Given the description of an element on the screen output the (x, y) to click on. 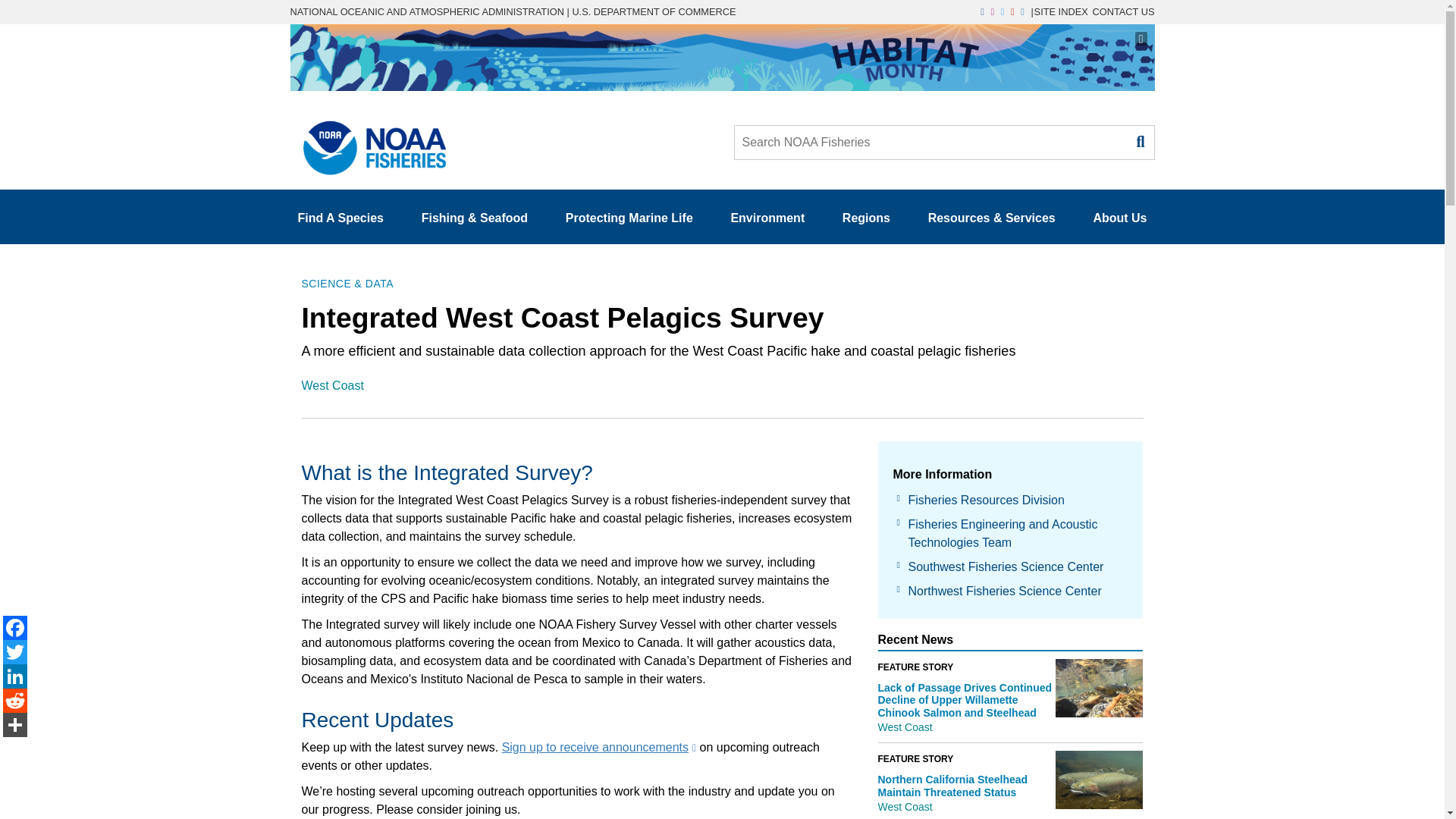
Home (368, 143)
Search (1139, 141)
NATIONAL OCEANIC AND ATMOSPHERIC ADMINISTRATION (426, 11)
CONTACT US (1123, 11)
U.S. DEPARTMENT OF COMMERCE (653, 11)
Find A Species (340, 218)
SITE INDEX (1060, 11)
